Given the description of an element on the screen output the (x, y) to click on. 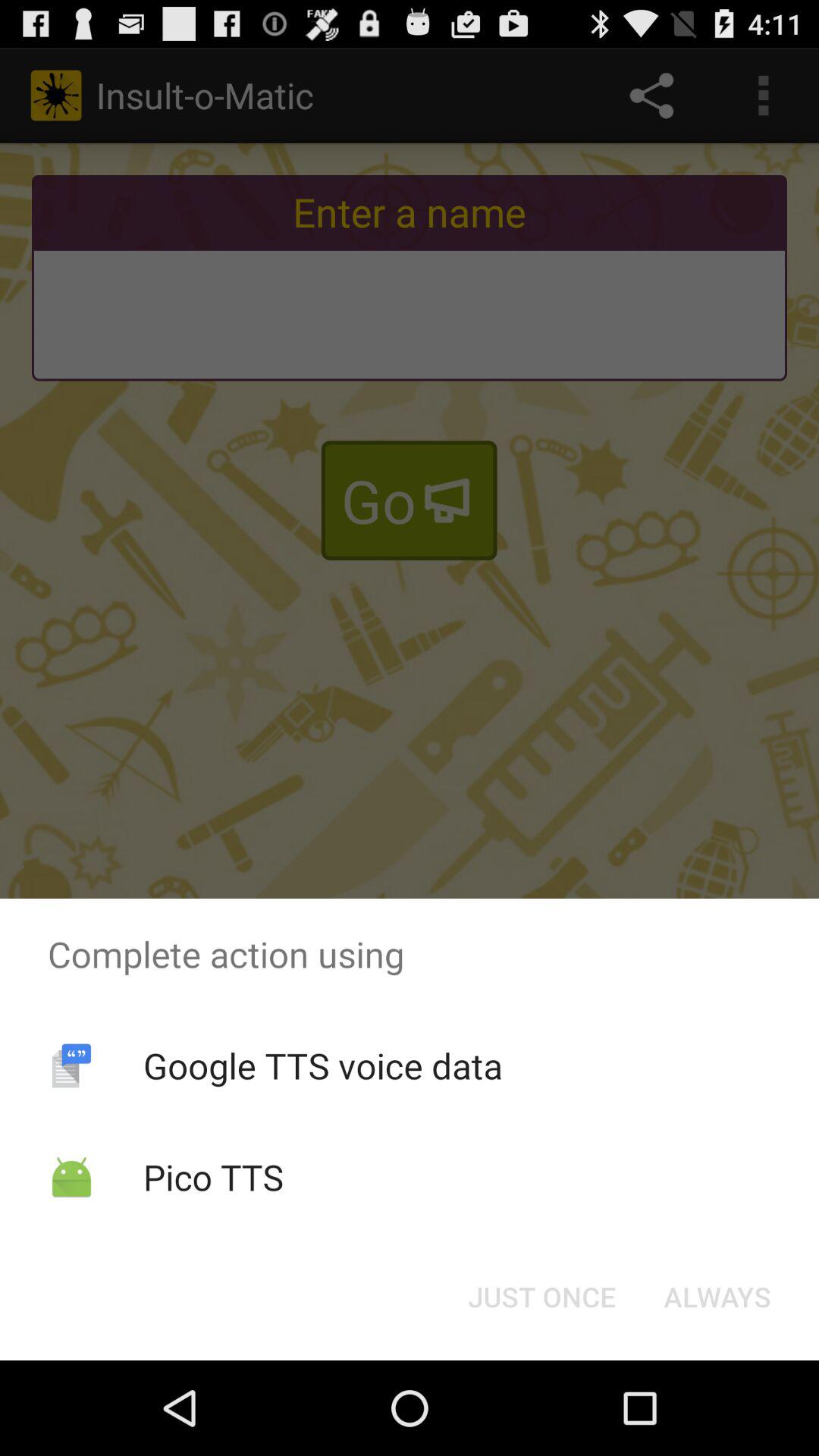
click button next to the always (541, 1296)
